Given the description of an element on the screen output the (x, y) to click on. 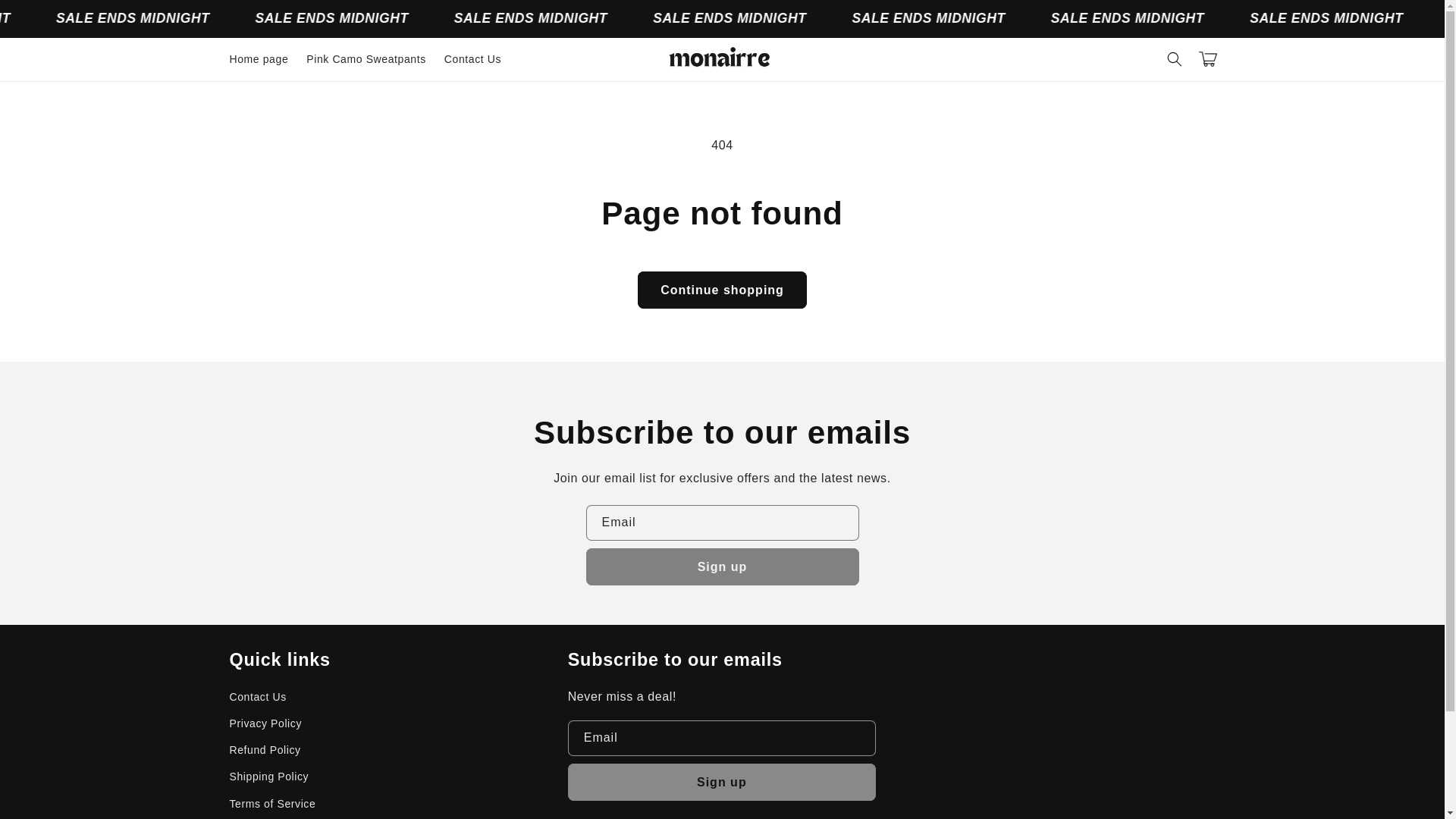
Home page (258, 59)
Sign up (721, 781)
Refund Policy (263, 750)
Cart (1207, 59)
Shipping Policy (268, 776)
Skip to content (46, 18)
Continue shopping (721, 289)
Sign up (722, 566)
Privacy Policy (264, 723)
Pink Camo Sweatpants (366, 59)
